Given the description of an element on the screen output the (x, y) to click on. 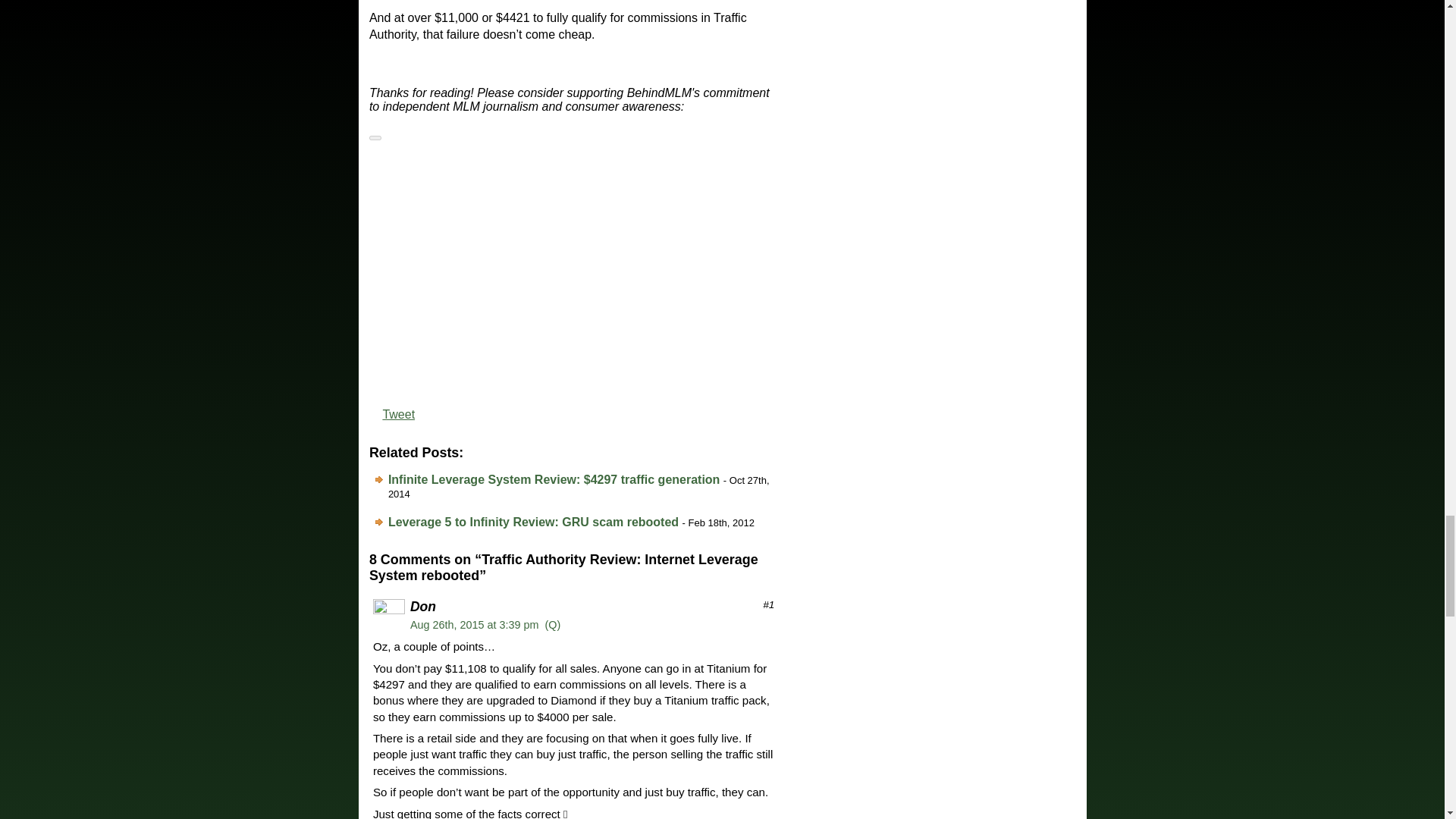
Click here or select text to quote comment (552, 624)
Tweet (397, 413)
Leverage 5 to Infinity Review: GRU scam rebooted (533, 521)
Aug 26th, 2015 at 3:39 pm (474, 624)
